Given the description of an element on the screen output the (x, y) to click on. 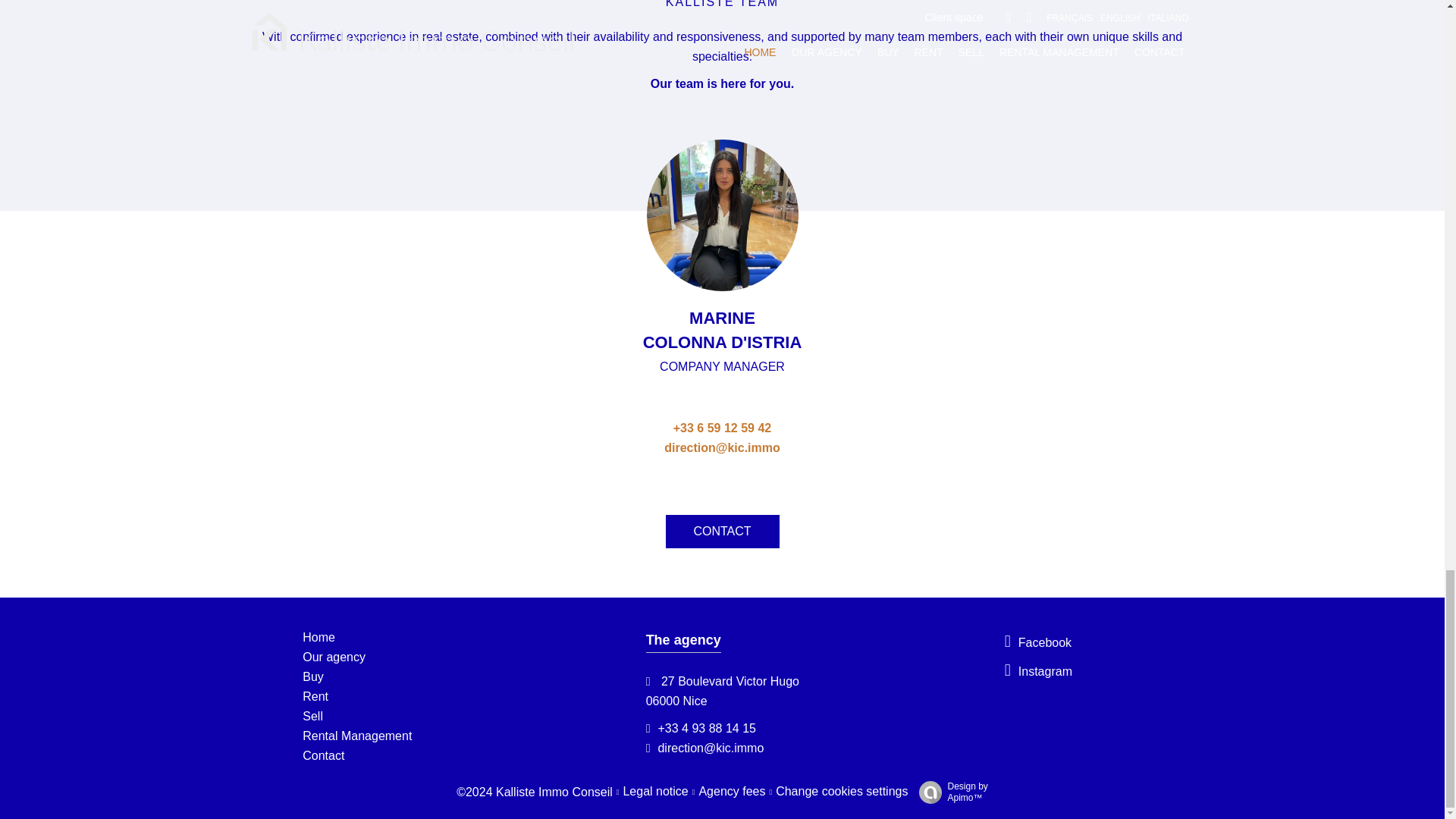
Buy (312, 676)
Rent (315, 696)
CONTACT (721, 530)
Our agency (333, 656)
Sell (312, 716)
Rental Management (357, 735)
Contact (322, 755)
Home (318, 636)
